Given the description of an element on the screen output the (x, y) to click on. 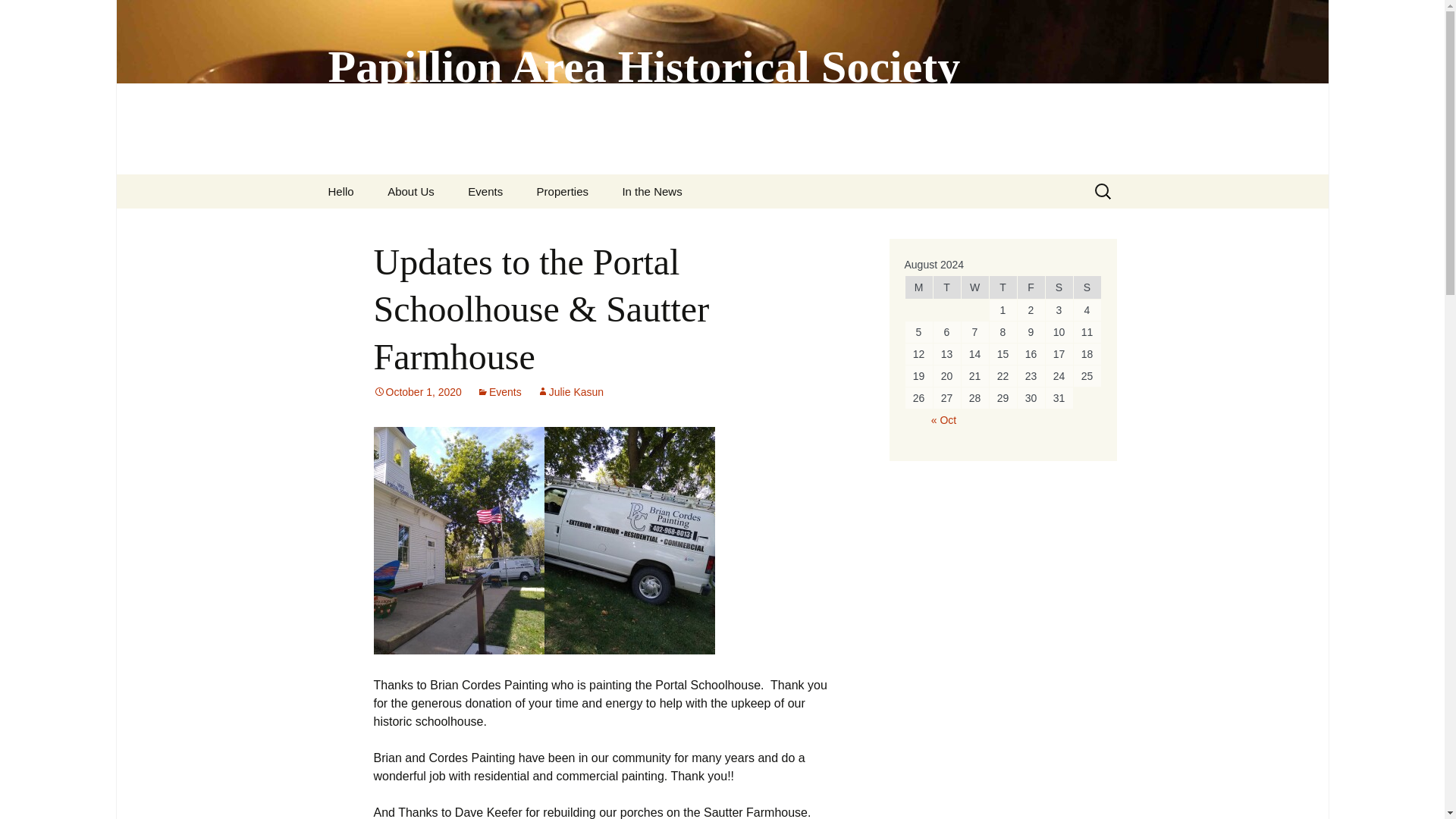
Saturday (1058, 287)
About Us (410, 191)
Sunday (1087, 287)
German Christmas Luncheon (528, 230)
In the News (652, 191)
Events (499, 391)
Tuesday (946, 287)
Search (18, 15)
Friday (1031, 287)
Properties (562, 191)
